Given the description of an element on the screen output the (x, y) to click on. 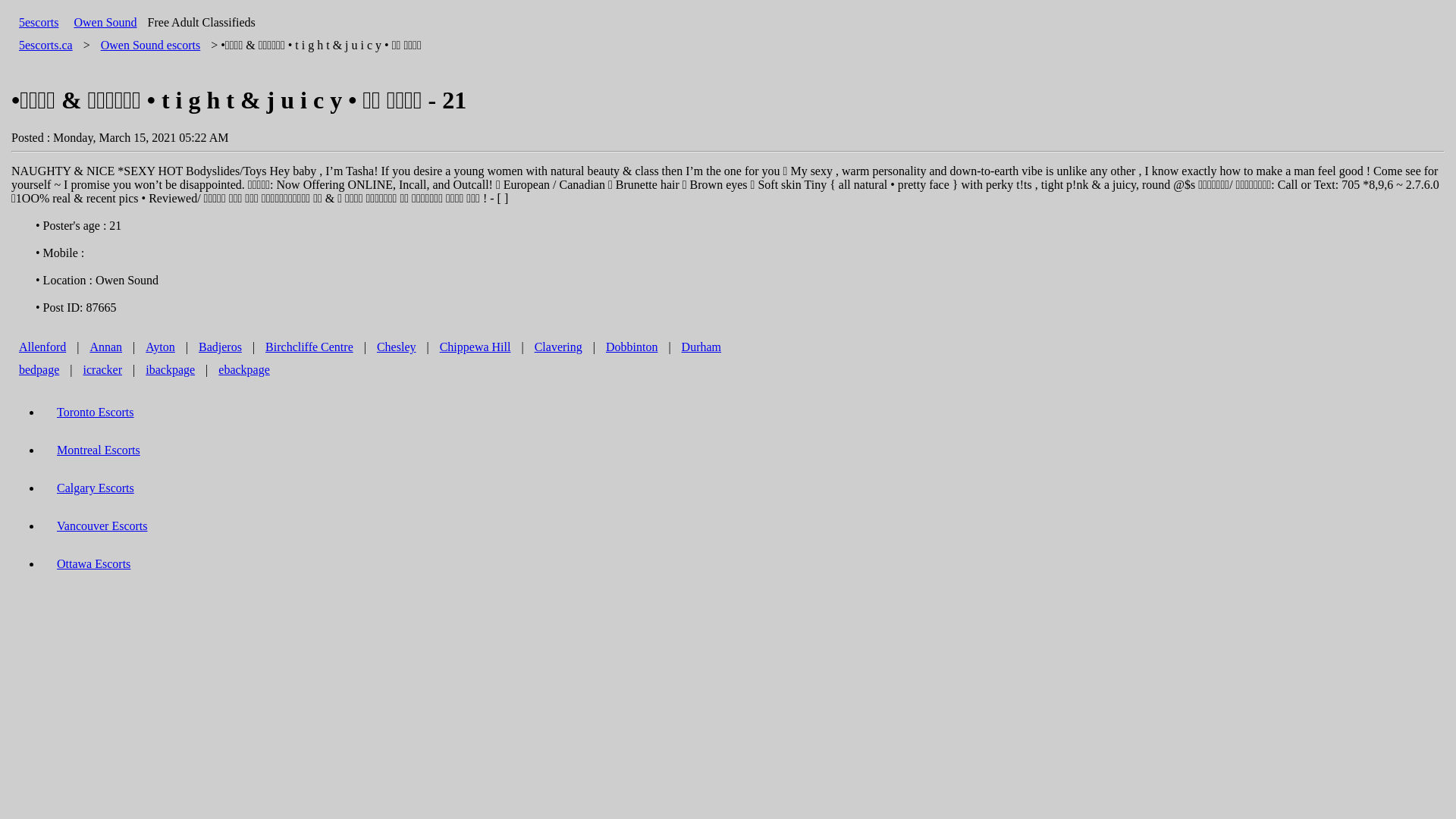
ibackpage Element type: text (170, 369)
icracker Element type: text (102, 369)
Calgary Escorts Element type: text (95, 487)
Allenford Element type: text (42, 346)
Toronto Escorts Element type: text (95, 412)
Badjeros Element type: text (220, 346)
ebackpage Element type: text (243, 369)
Ayton Element type: text (160, 346)
5escorts.ca Element type: text (45, 45)
Chippewa Hill Element type: text (475, 346)
Montreal Escorts Element type: text (98, 450)
Birchcliffe Centre Element type: text (308, 346)
Chesley Element type: text (396, 346)
Clavering Element type: text (558, 346)
Annan Element type: text (105, 346)
Dobbinton Element type: text (631, 346)
5escorts Element type: text (38, 22)
Ottawa Escorts Element type: text (93, 563)
bedpage Element type: text (38, 369)
Owen Sound Element type: text (104, 22)
Vancouver Escorts Element type: text (102, 525)
Durham Element type: text (701, 346)
Owen Sound escorts Element type: text (150, 45)
